Given the description of an element on the screen output the (x, y) to click on. 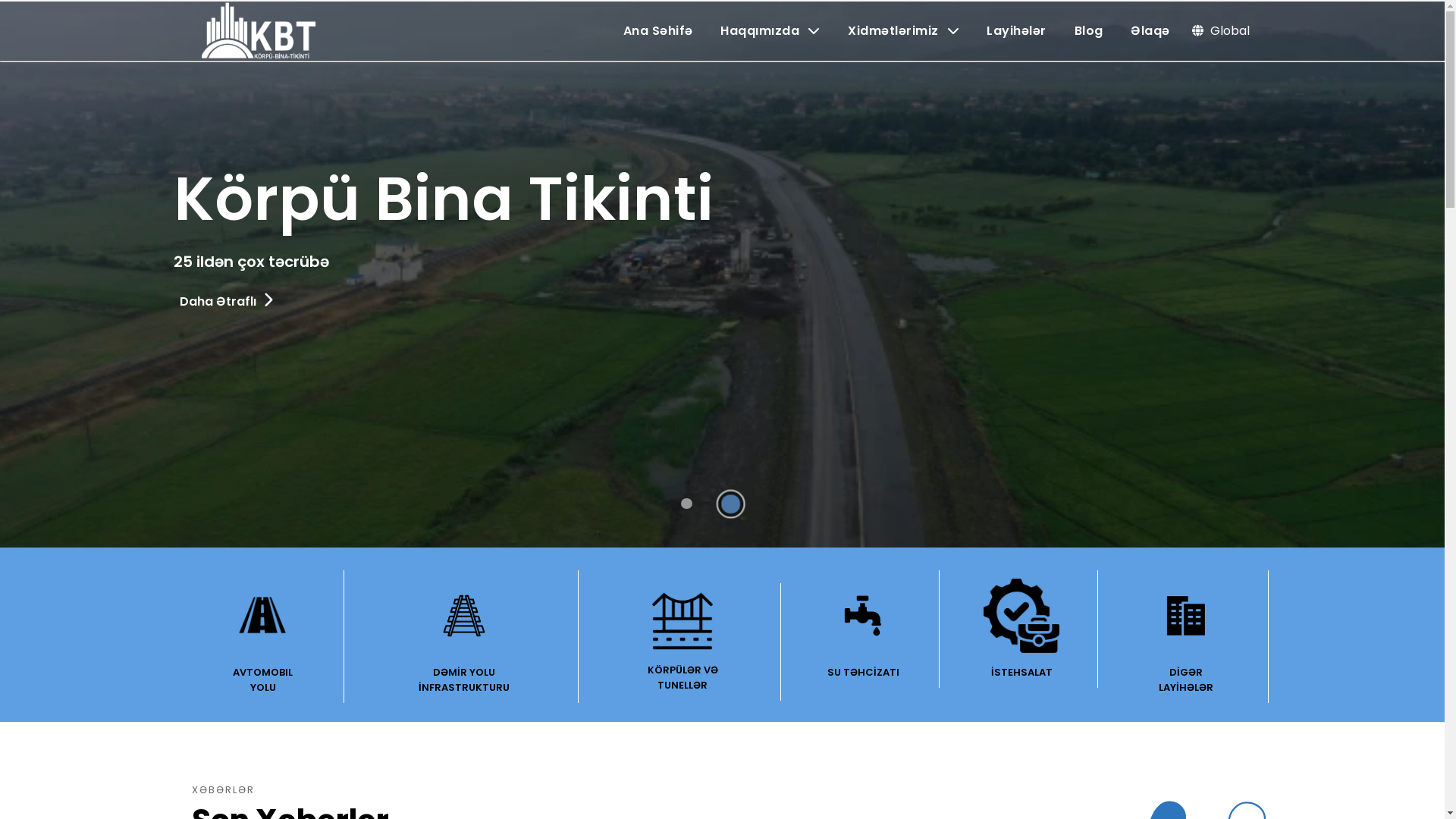
Blog Element type: text (1087, 29)
AVTOMOBIL YOLU Element type: text (263, 636)
